Given the description of an element on the screen output the (x, y) to click on. 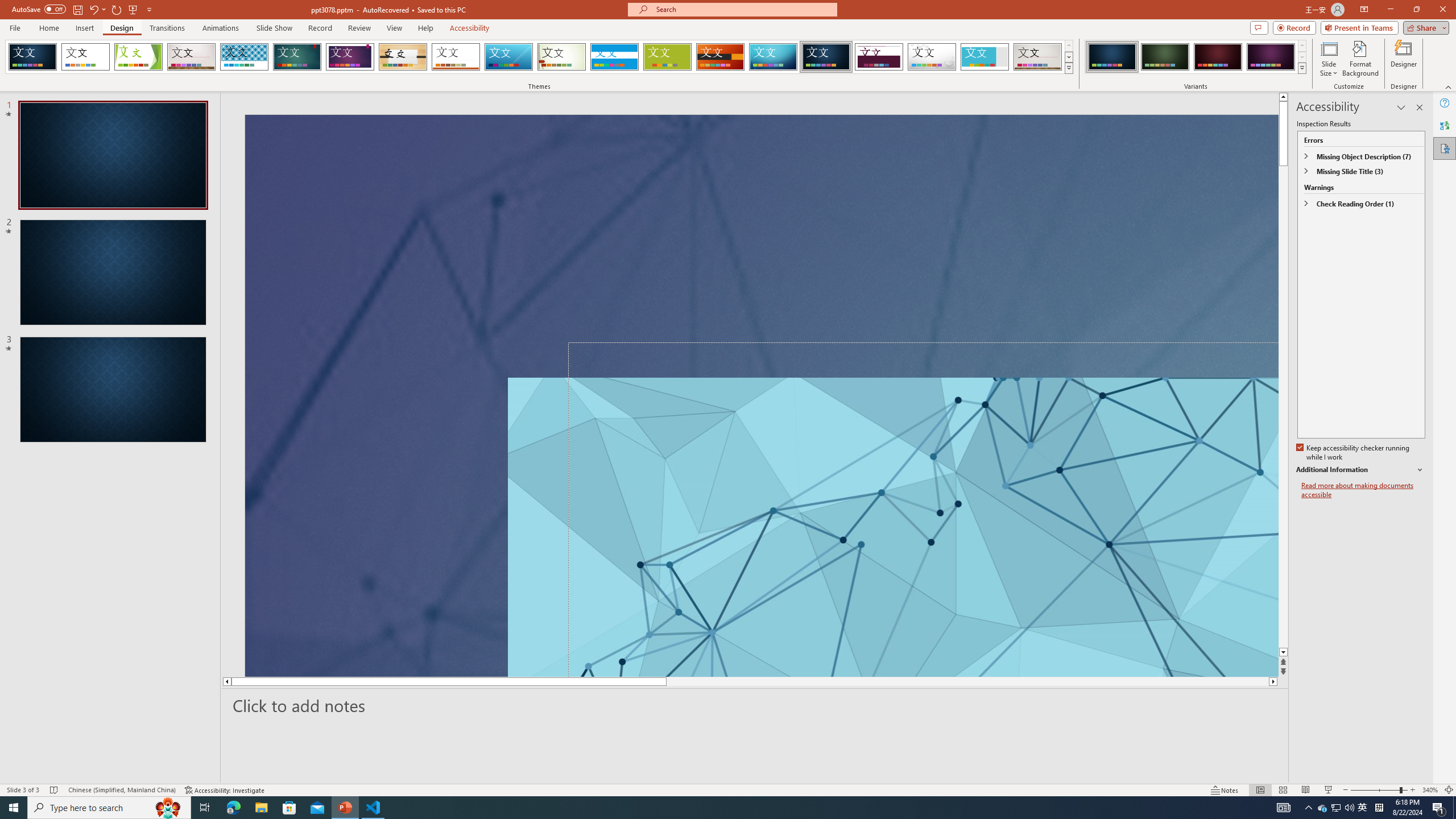
Gallery (1037, 56)
Integral (244, 56)
Droplet (931, 56)
An abstract genetic concept (761, 395)
Ion (296, 56)
Additional Information (1360, 469)
Wisp (561, 56)
Slide Size (1328, 58)
